Given the description of an element on the screen output the (x, y) to click on. 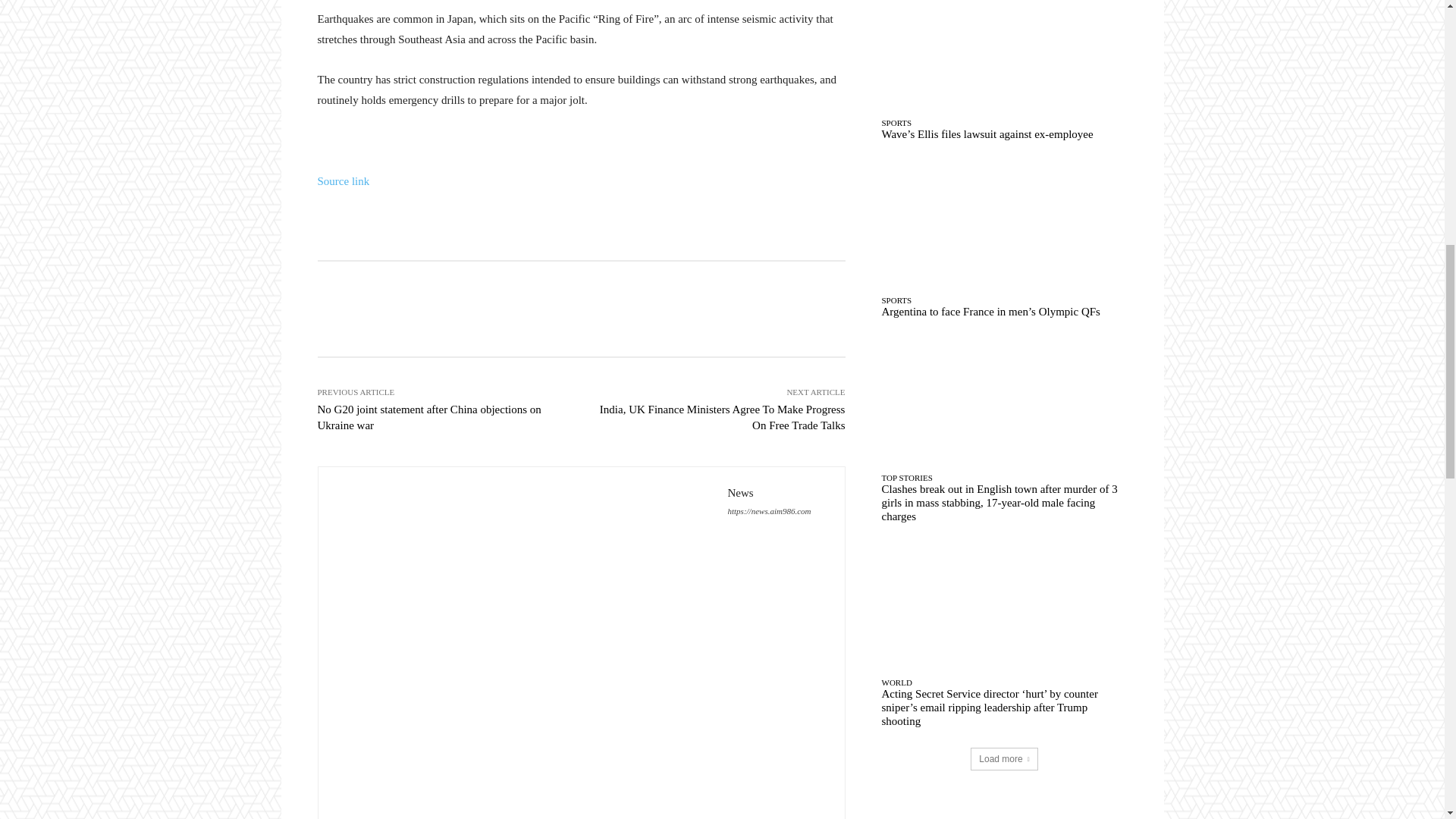
News (523, 650)
Source link (343, 181)
